Given the description of an element on the screen output the (x, y) to click on. 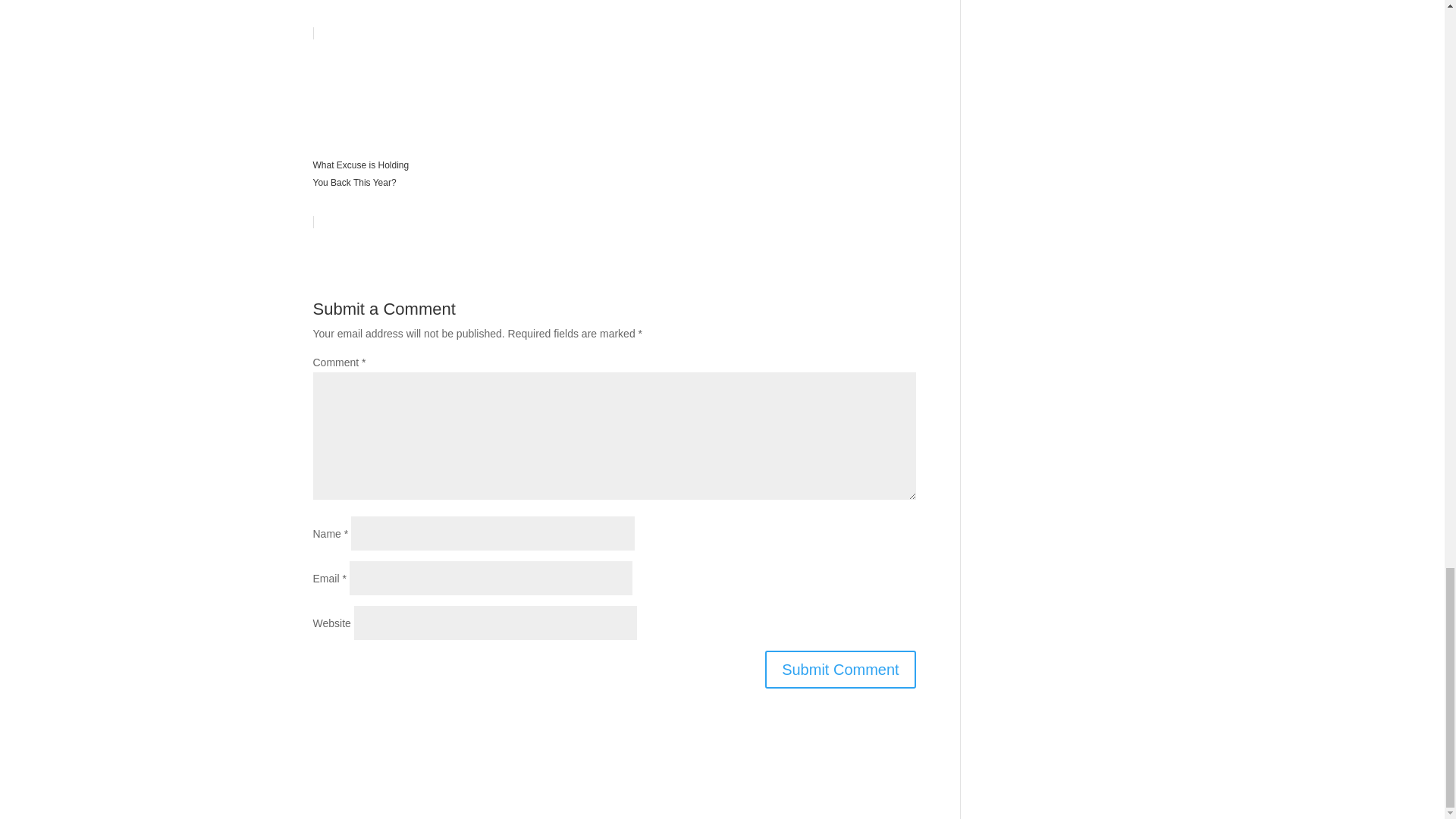
Submit Comment (840, 669)
Submit Comment (840, 669)
Chiropractic and Registered Massage Therapy (614, 19)
What Excuse is Holding You Back This Year? (614, 127)
